Given the description of an element on the screen output the (x, y) to click on. 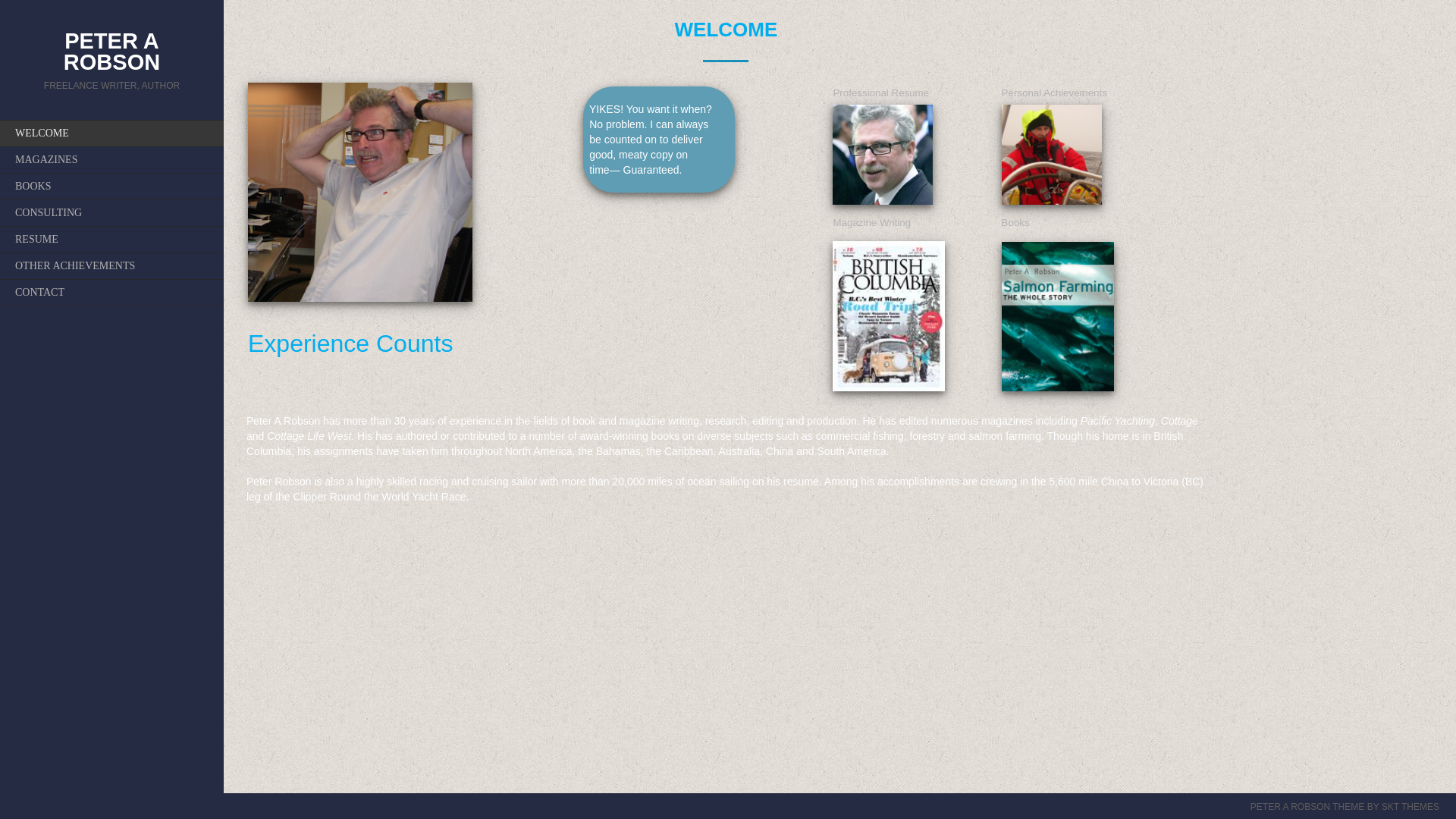
Professional Resume (880, 92)
BOOKS (112, 185)
MAGAZINES (112, 159)
PETER A ROBSON FREELANCE WRITER, AUTHOR (111, 74)
CONTACT (112, 292)
RESUME (112, 239)
WELCOME (112, 132)
Books (1015, 222)
CONSULTING (112, 212)
Magazine Writing (871, 222)
Personal Achievements (1053, 92)
OTHER ACHIEVEMENTS (112, 265)
